Given the description of an element on the screen output the (x, y) to click on. 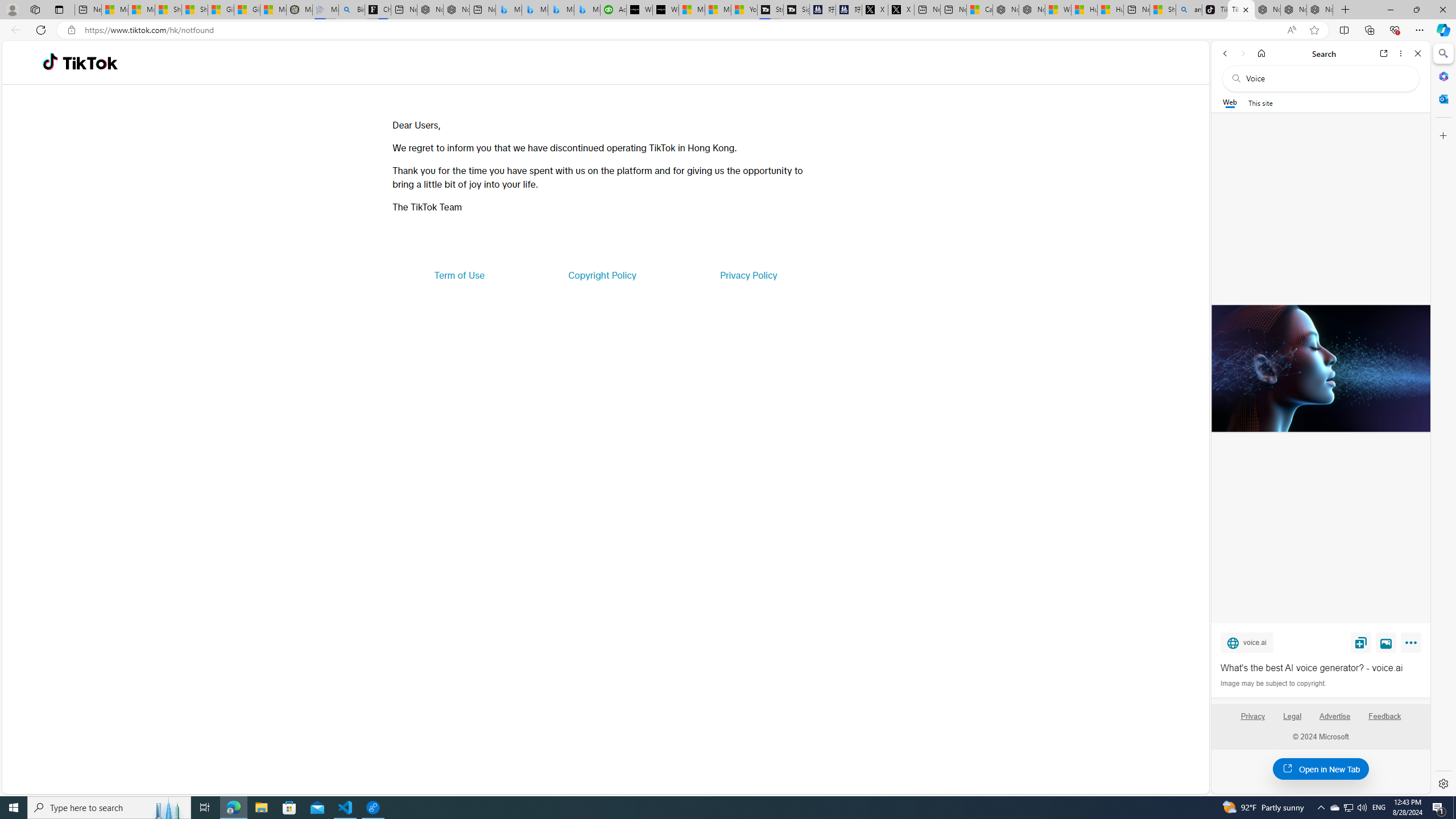
Search the web (1326, 78)
Side bar (1443, 418)
